Given the description of an element on the screen output the (x, y) to click on. 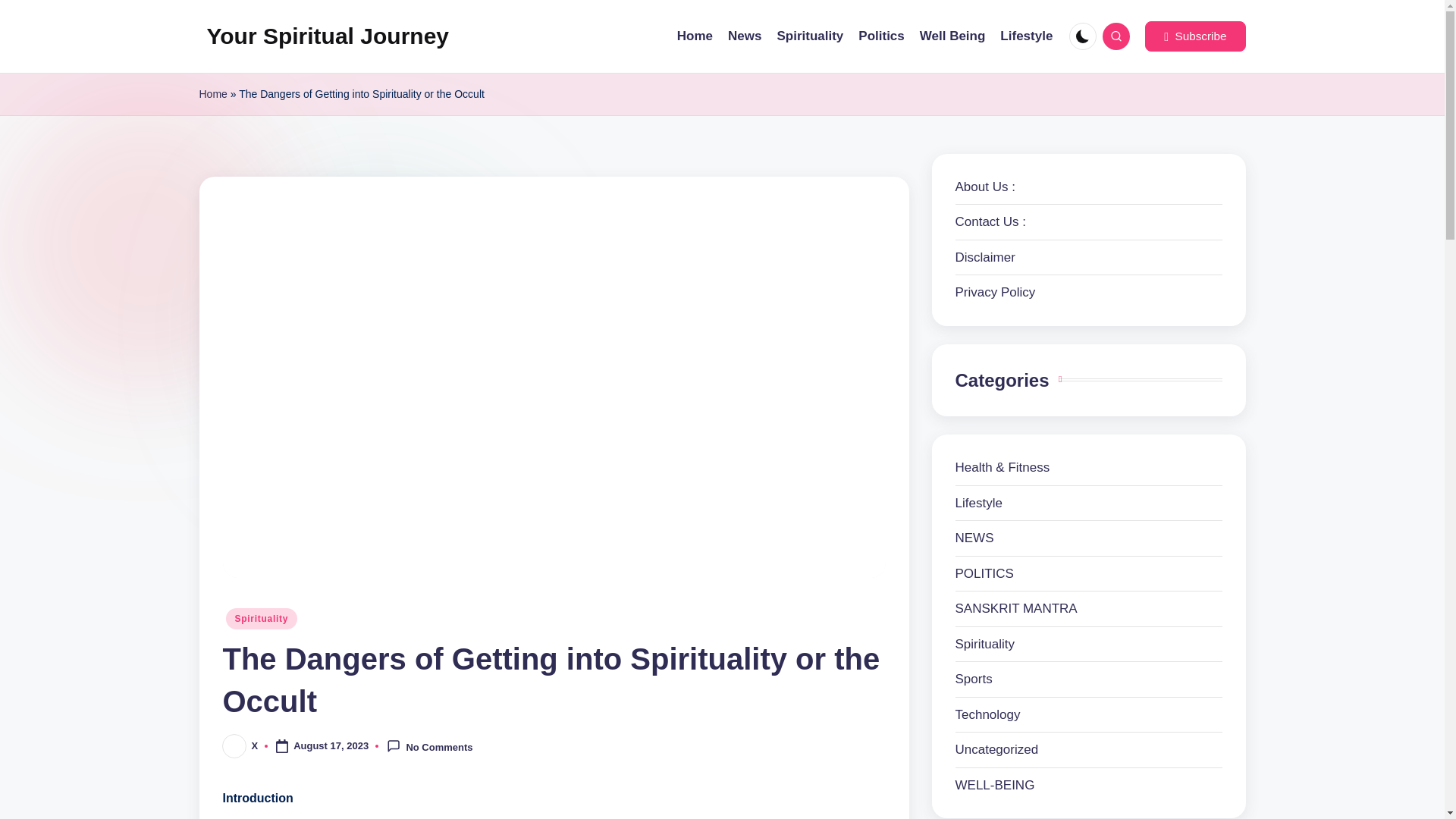
SANSKRIT MANTRA (1089, 608)
Home (212, 94)
Your Spiritual Journey (327, 36)
Lifestyle (1089, 503)
Privacy Policy (995, 292)
Contact Us : (990, 221)
Spirituality (1089, 644)
Home (695, 36)
News (744, 36)
NEWS (1089, 537)
